Given the description of an element on the screen output the (x, y) to click on. 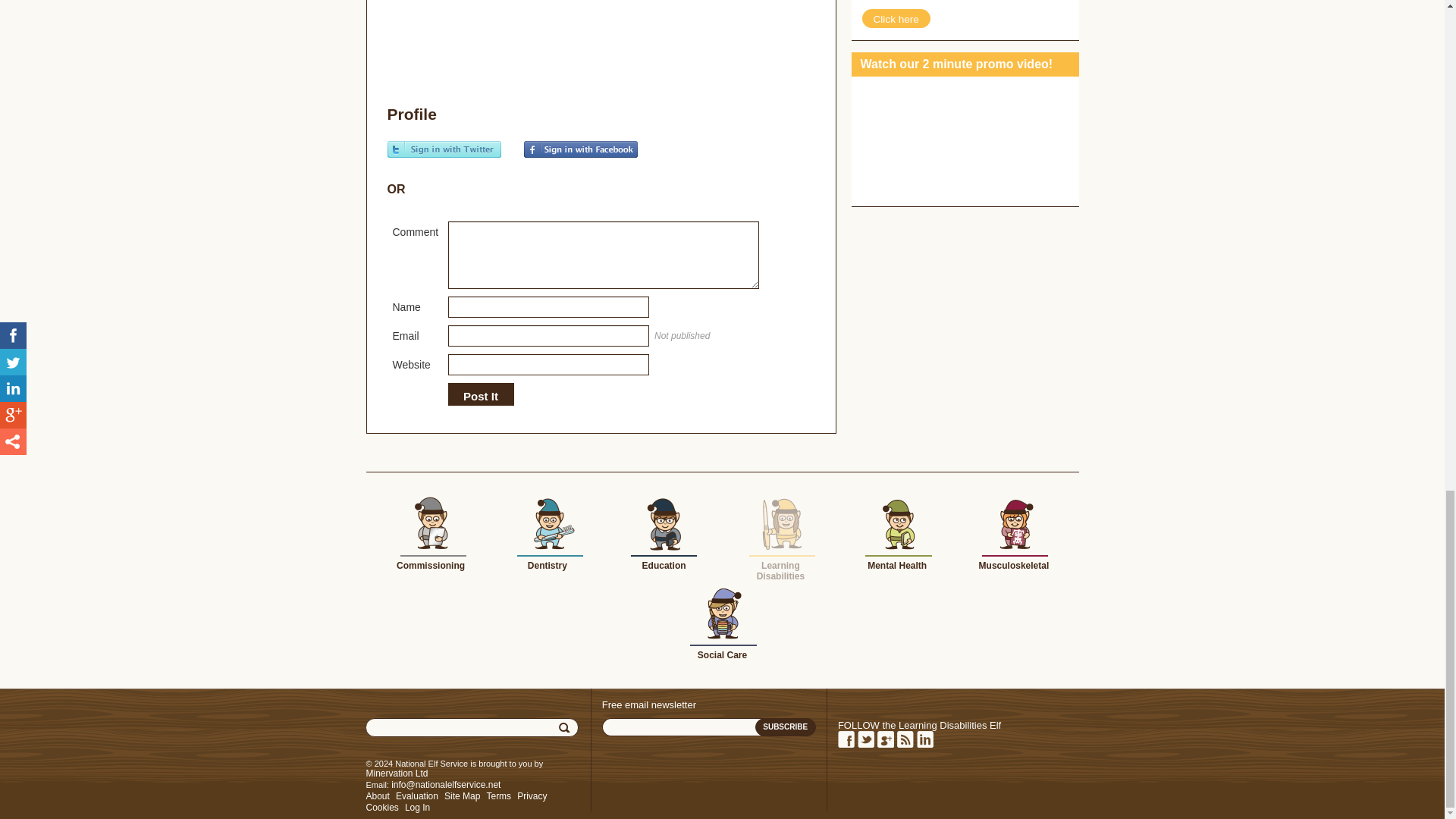
Search (565, 728)
Post It (479, 396)
Subscribe (785, 727)
